Given the description of an element on the screen output the (x, y) to click on. 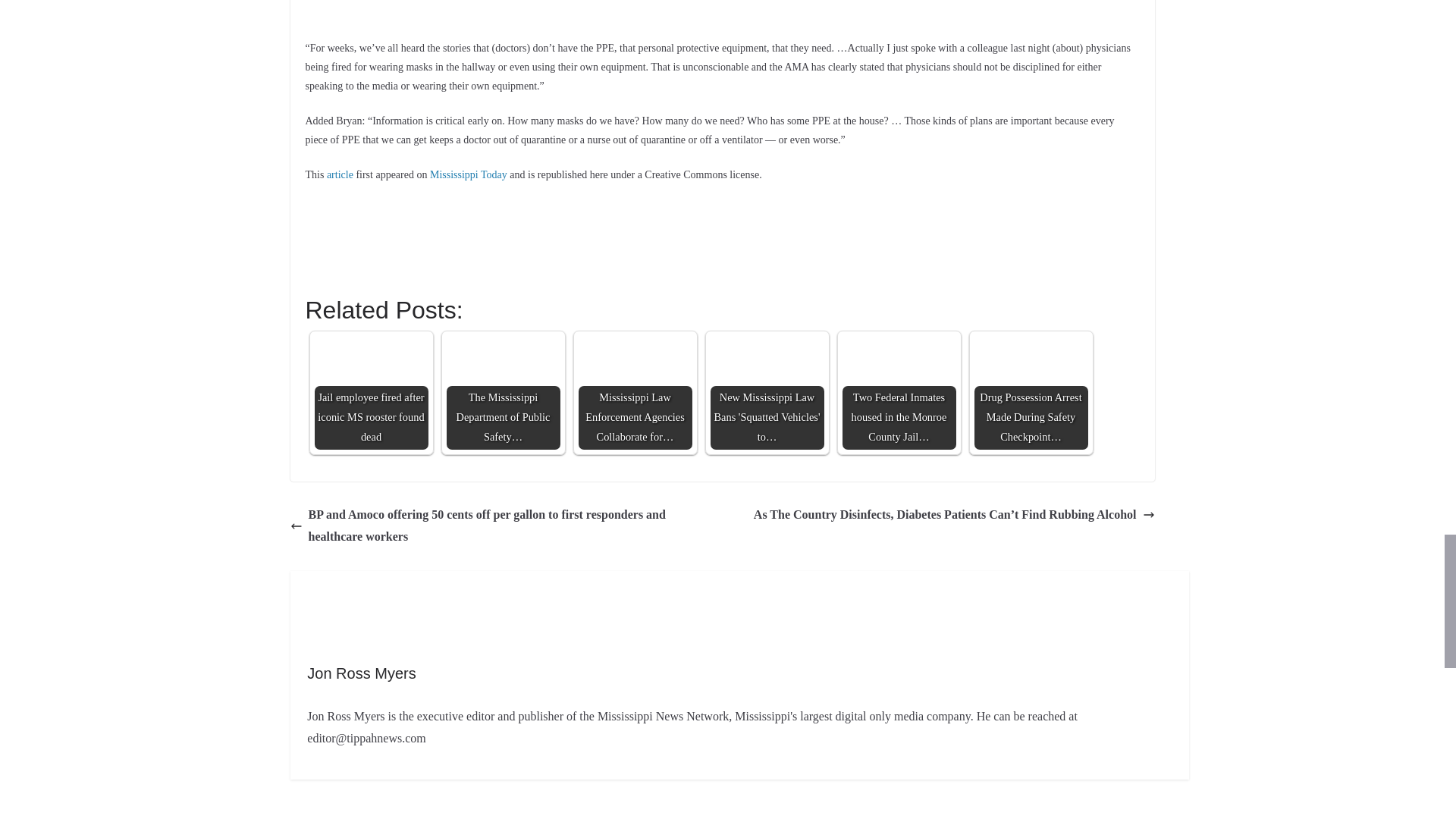
Jail employee fired after iconic MS rooster found dead (371, 392)
